Given the description of an element on the screen output the (x, y) to click on. 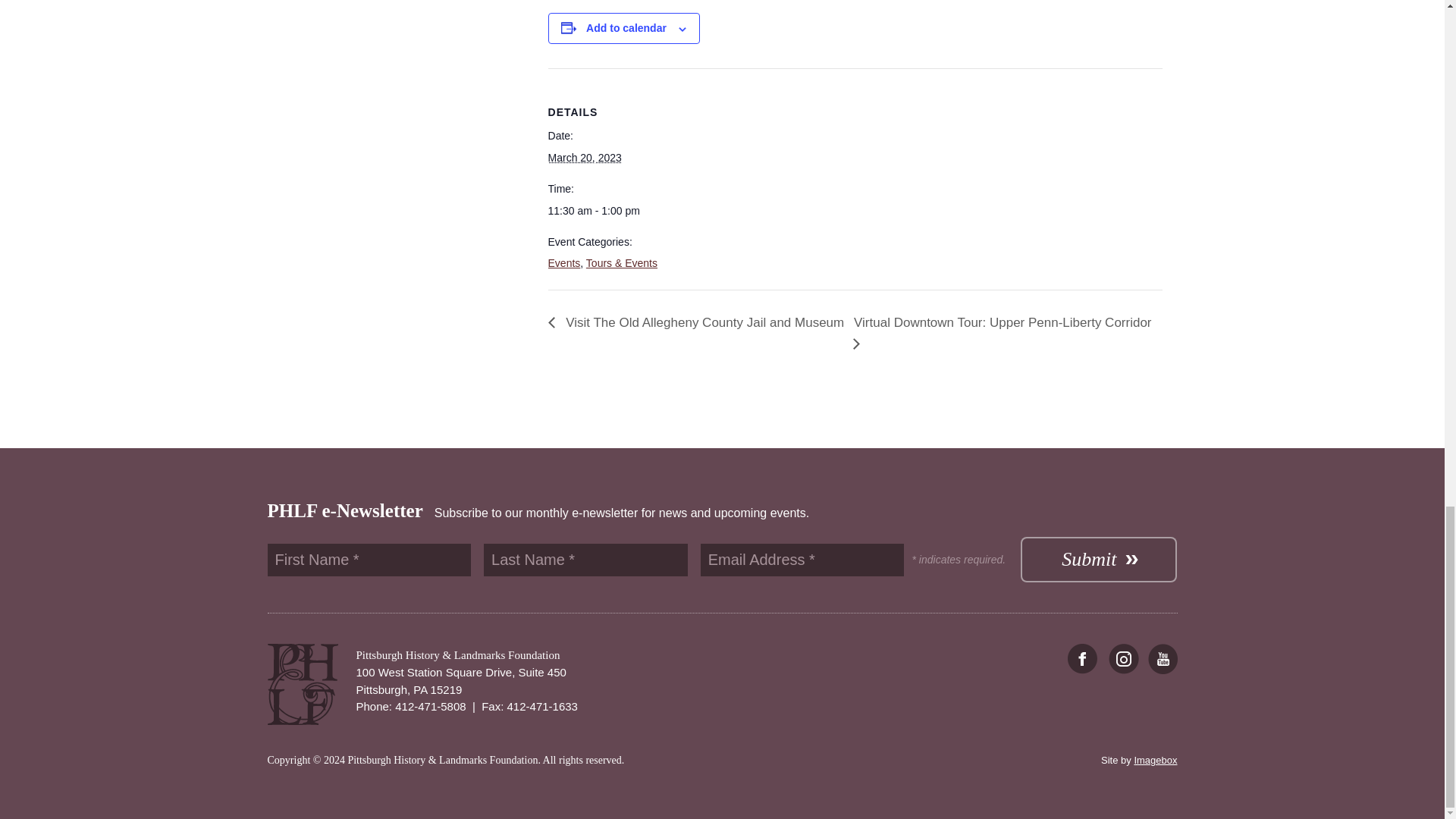
2023-03-20 (584, 157)
2023-03-20 (603, 210)
Submit (1098, 559)
